Given the description of an element on the screen output the (x, y) to click on. 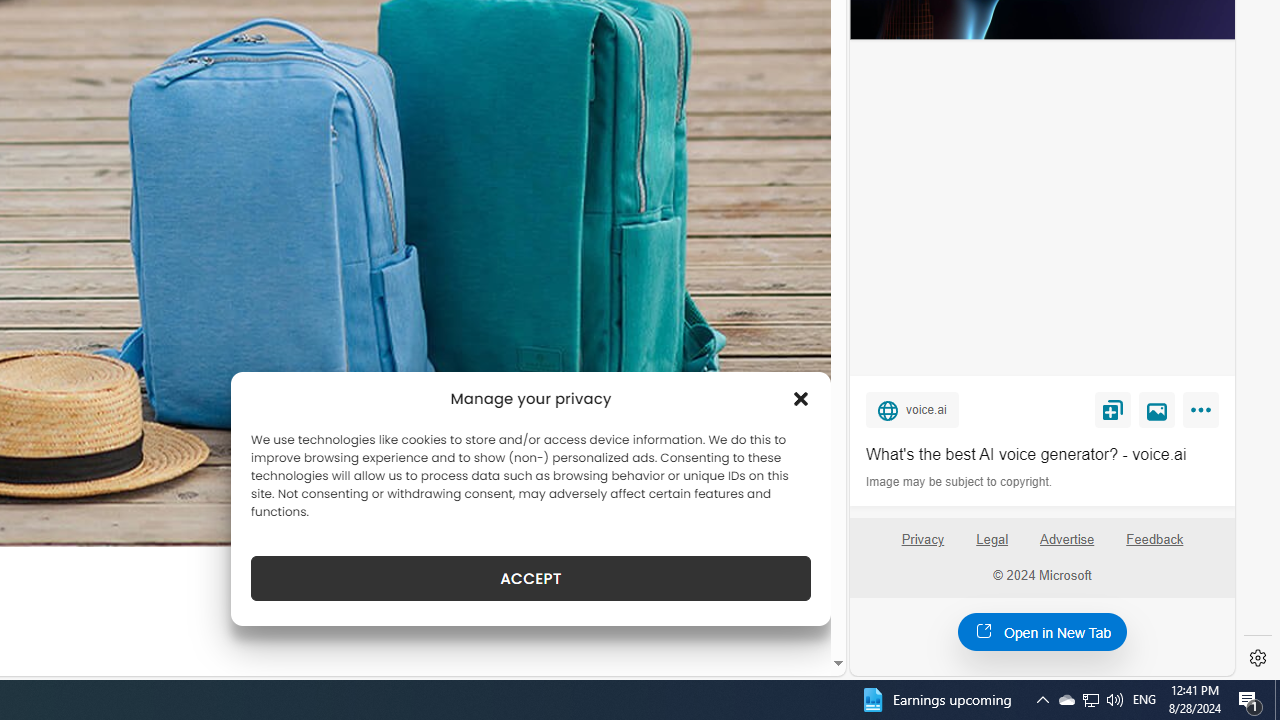
Legal (991, 539)
Legal (992, 547)
Settings (1258, 658)
Open in New Tab (1042, 631)
Save (1112, 409)
